Given the description of an element on the screen output the (x, y) to click on. 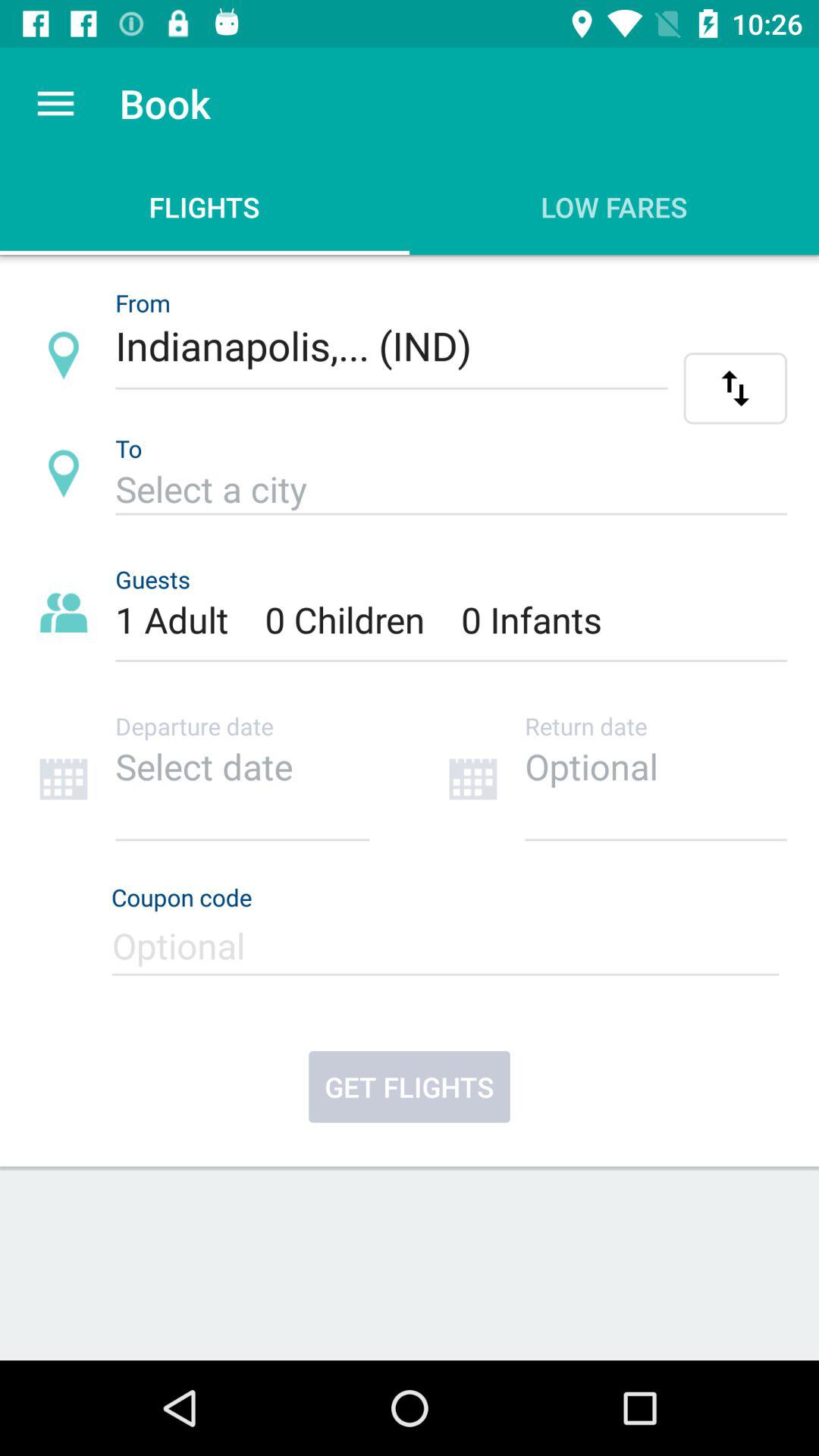
turn on item above from icon (55, 103)
